Given the description of an element on the screen output the (x, y) to click on. 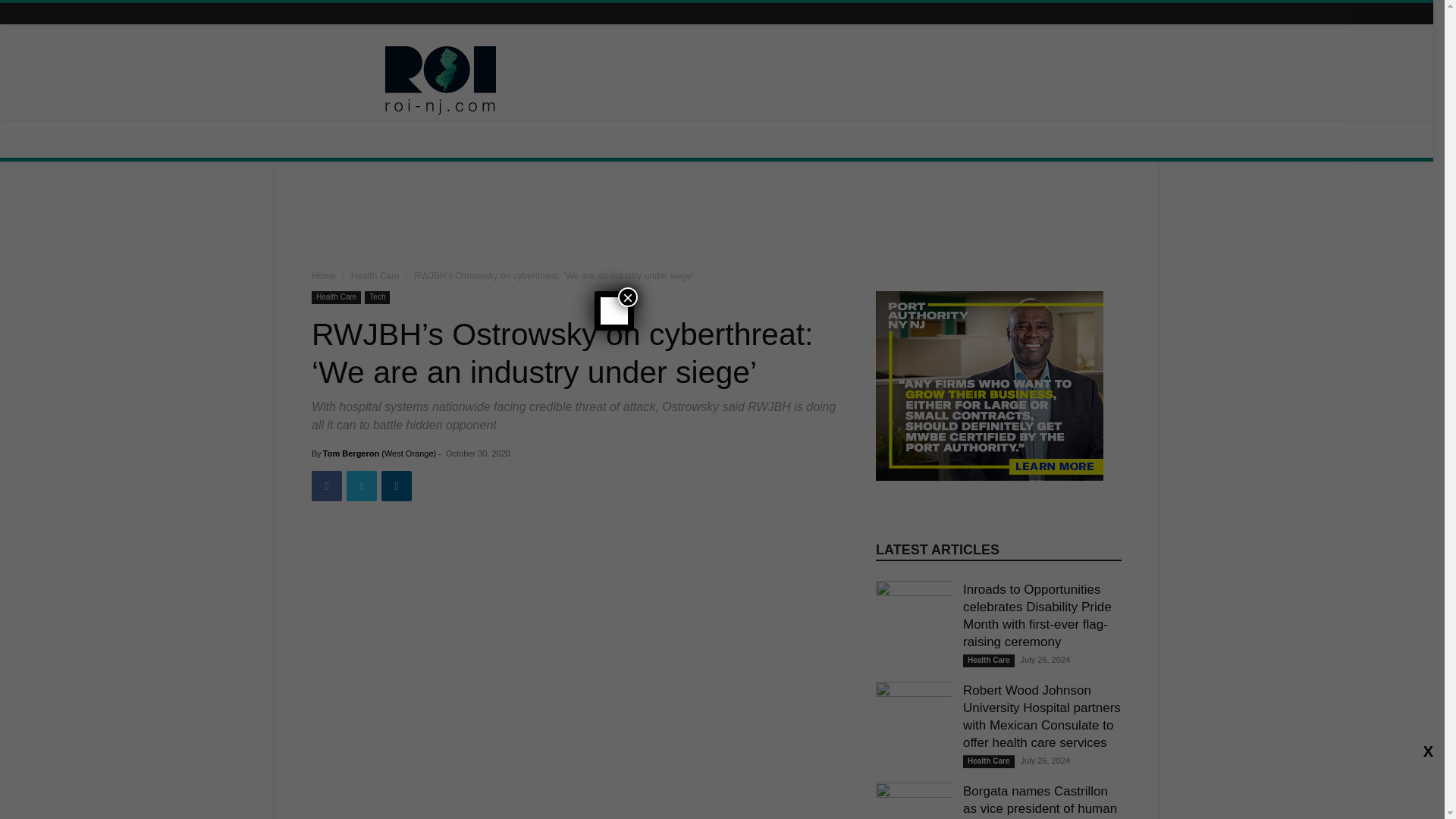
3rd party ad content (716, 218)
View all posts in Health Care (374, 276)
Twitter (361, 485)
Facebook (326, 485)
Linkedin (396, 485)
3rd party ad content (845, 79)
